Given the description of an element on the screen output the (x, y) to click on. 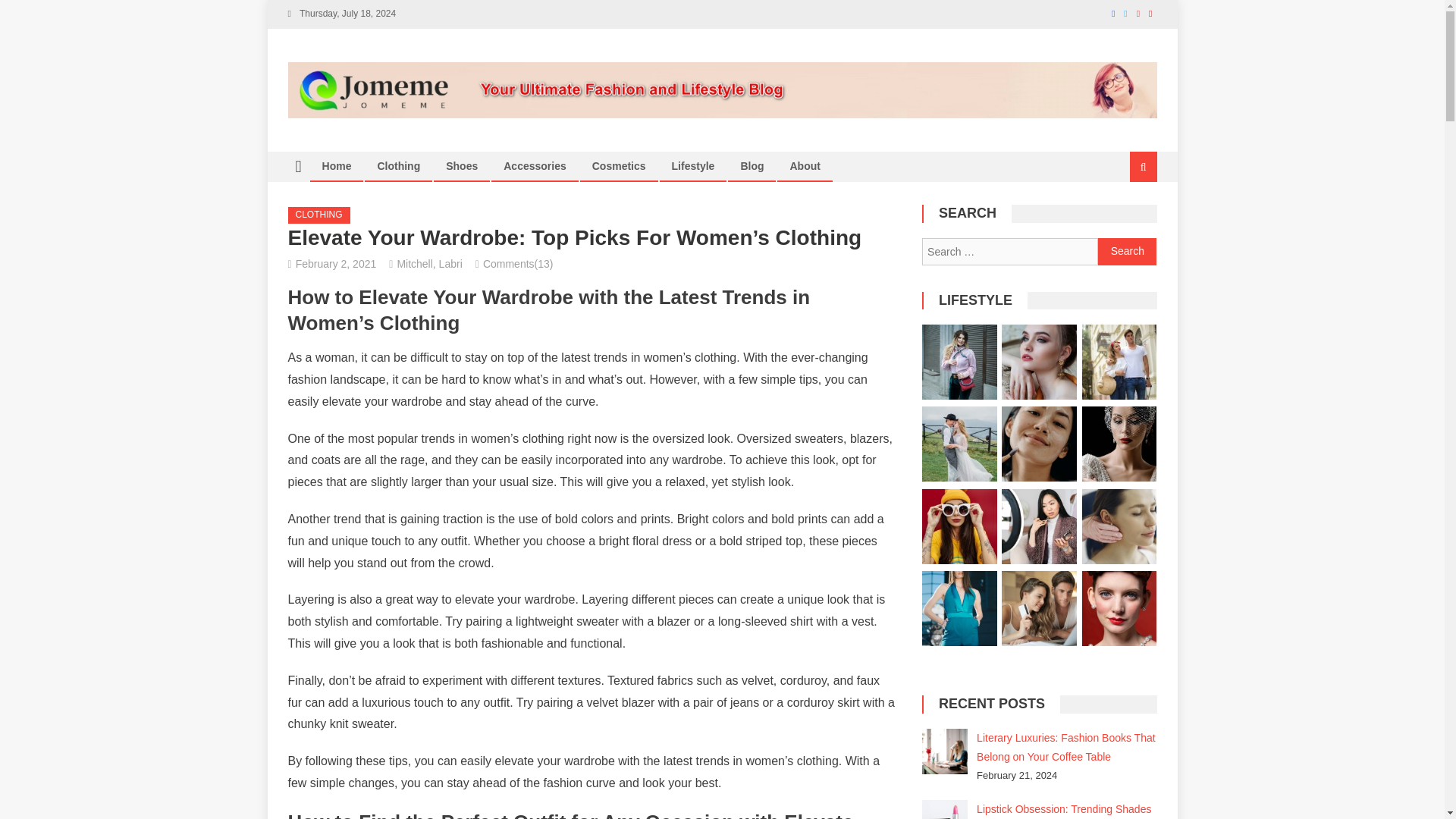
Accessories (535, 165)
Lifestyle (693, 165)
February 2, 2021 (336, 263)
Blog (751, 165)
Search (1126, 251)
Search (1126, 251)
Search (1123, 216)
Shoes (461, 165)
CLOTHING (319, 215)
About (804, 165)
Cosmetics (619, 165)
Home (336, 165)
Mitchell, Labri (428, 263)
Clothing (397, 165)
